Given the description of an element on the screen output the (x, y) to click on. 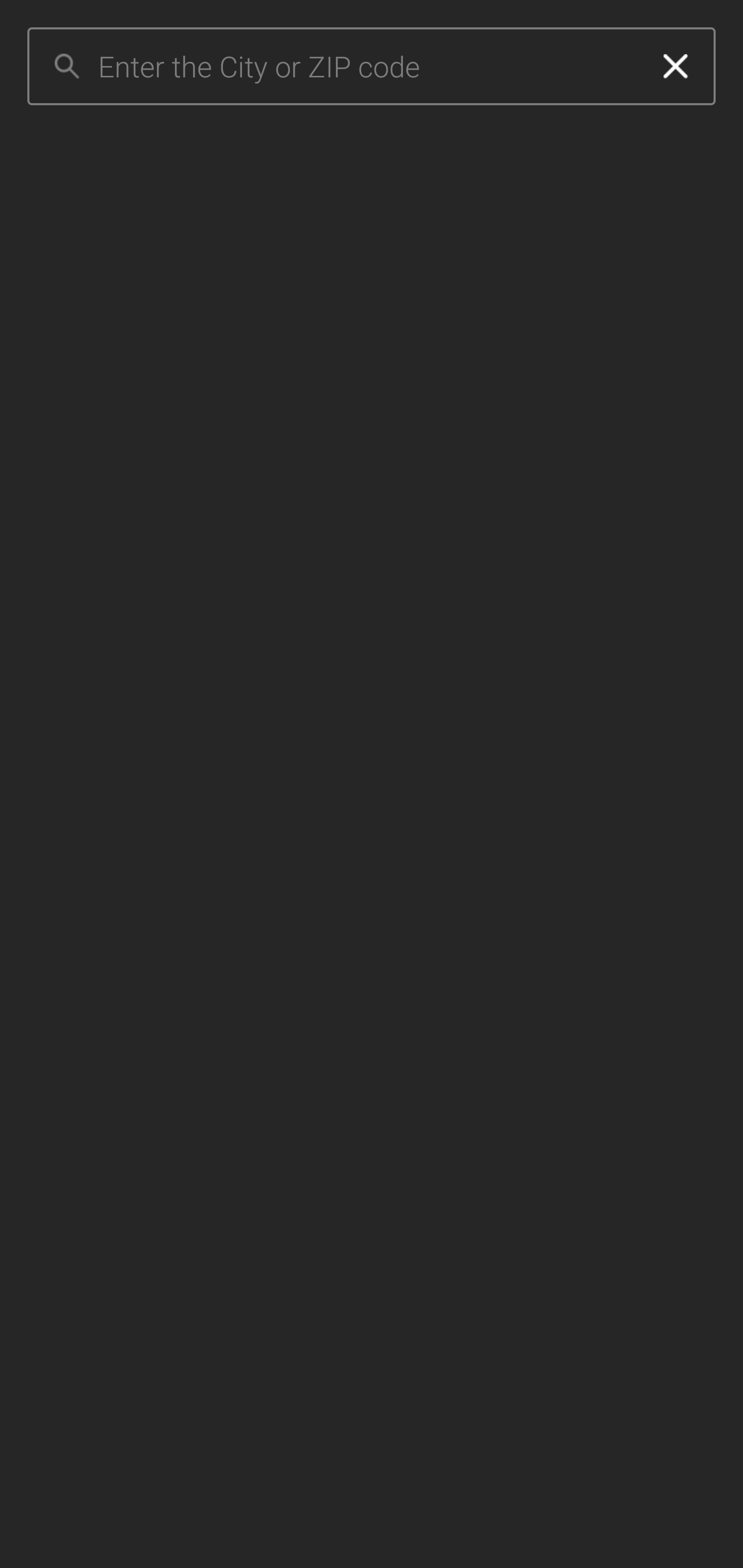
Enter the City or ZIP code (367, 66)
